Given the description of an element on the screen output the (x, y) to click on. 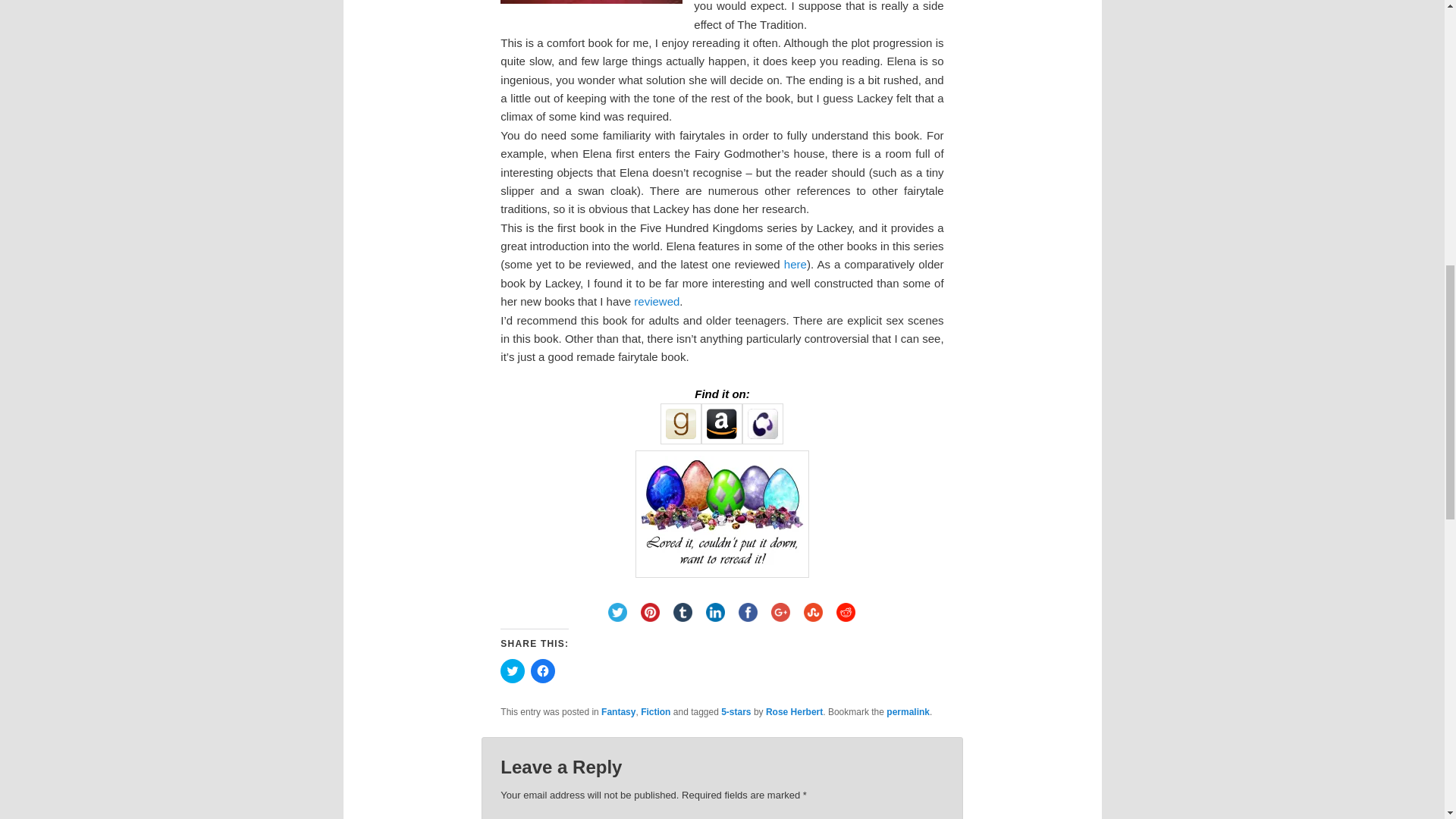
here (795, 264)
linkedin (715, 612)
stumbleupon (812, 612)
reviewed (656, 300)
Rose Herbert (793, 711)
facebook (748, 612)
tumblr (682, 612)
5-stars (735, 711)
pinterest (649, 612)
Fantasy (617, 711)
